Given the description of an element on the screen output the (x, y) to click on. 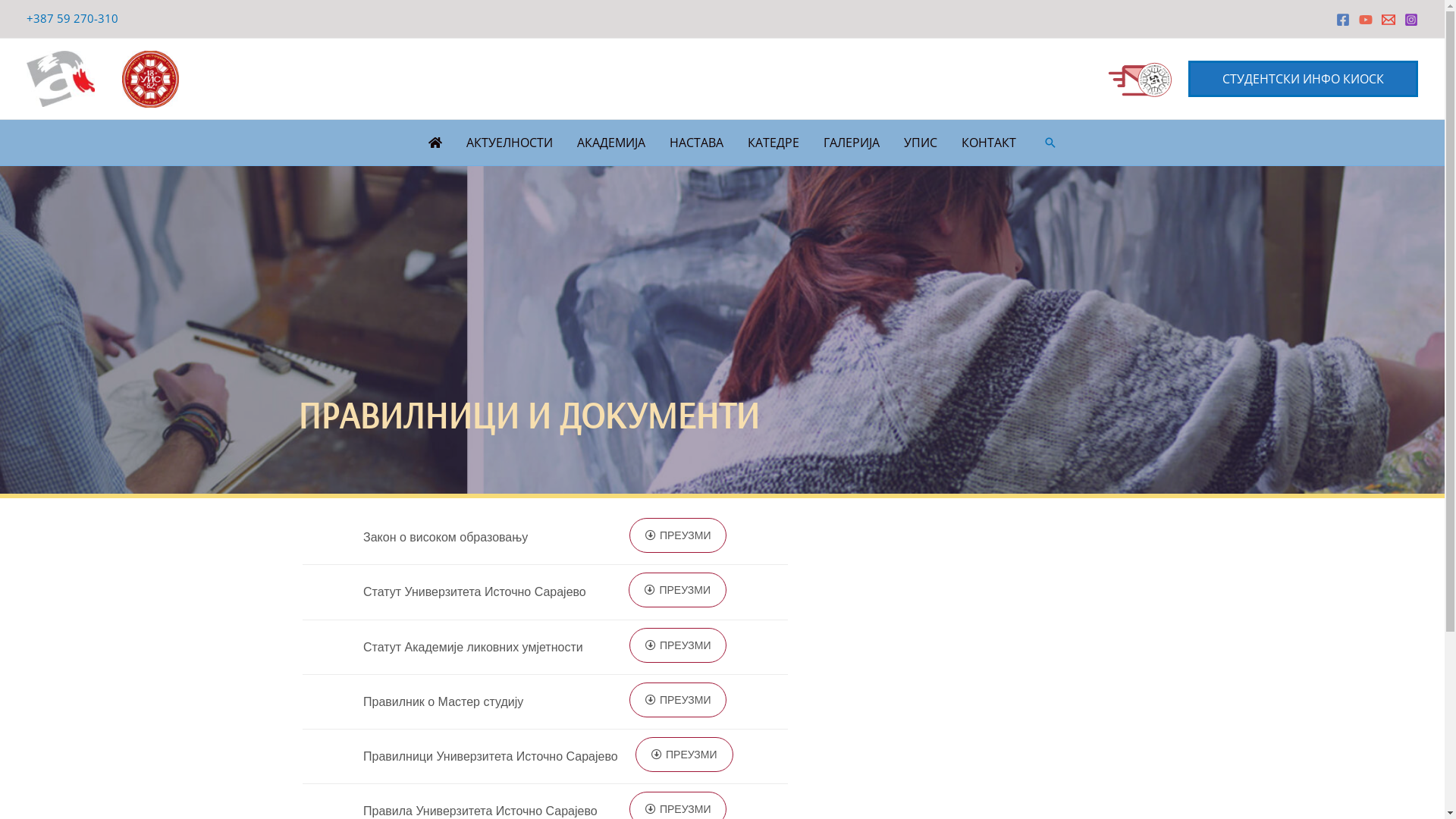
+387 59 270-310  Element type: text (73, 17)
